Given the description of an element on the screen output the (x, y) to click on. 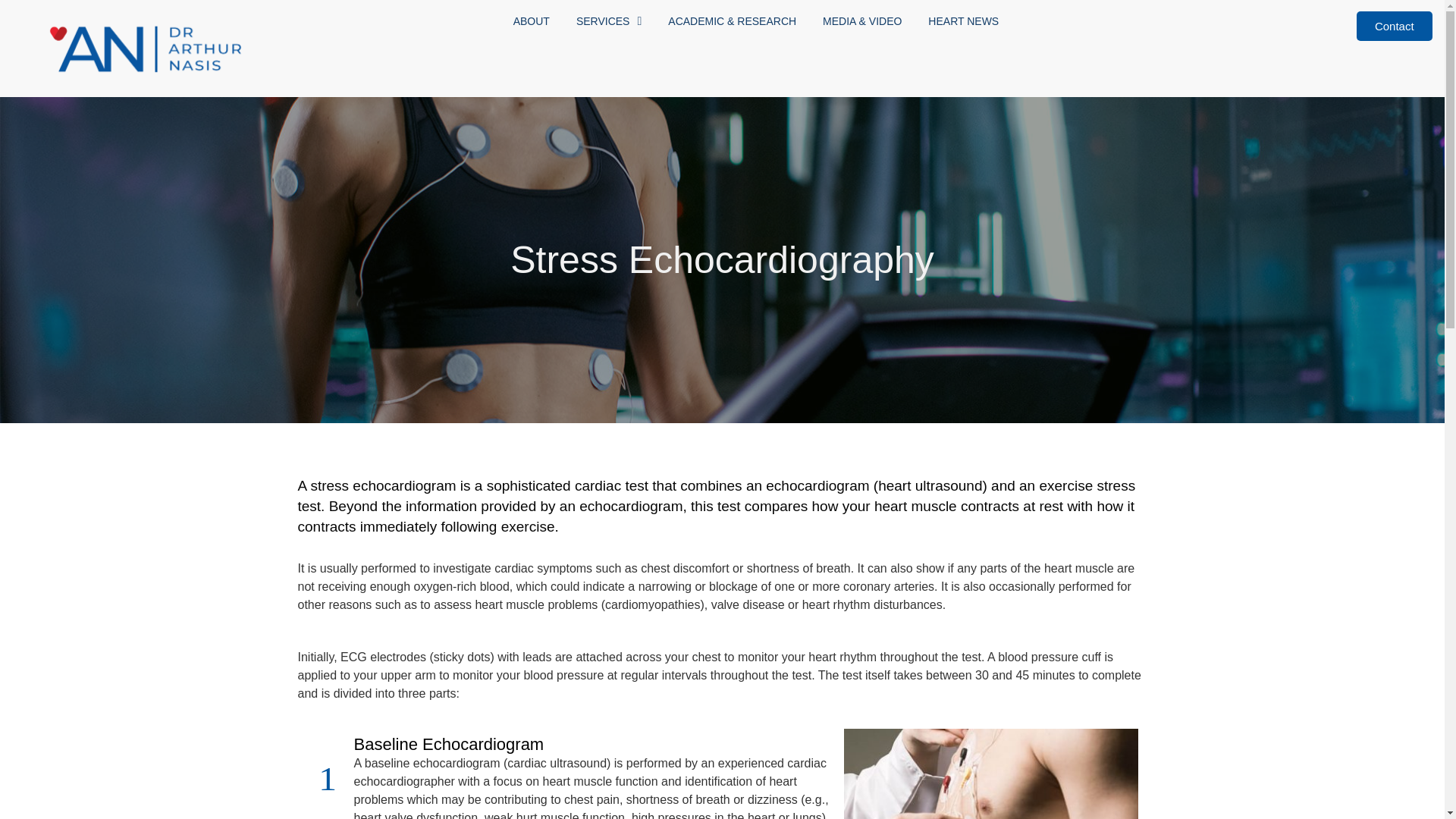
Contact (1394, 25)
HEART NEWS (963, 21)
1 (323, 777)
SERVICES (609, 21)
ABOUT (531, 21)
